Given the description of an element on the screen output the (x, y) to click on. 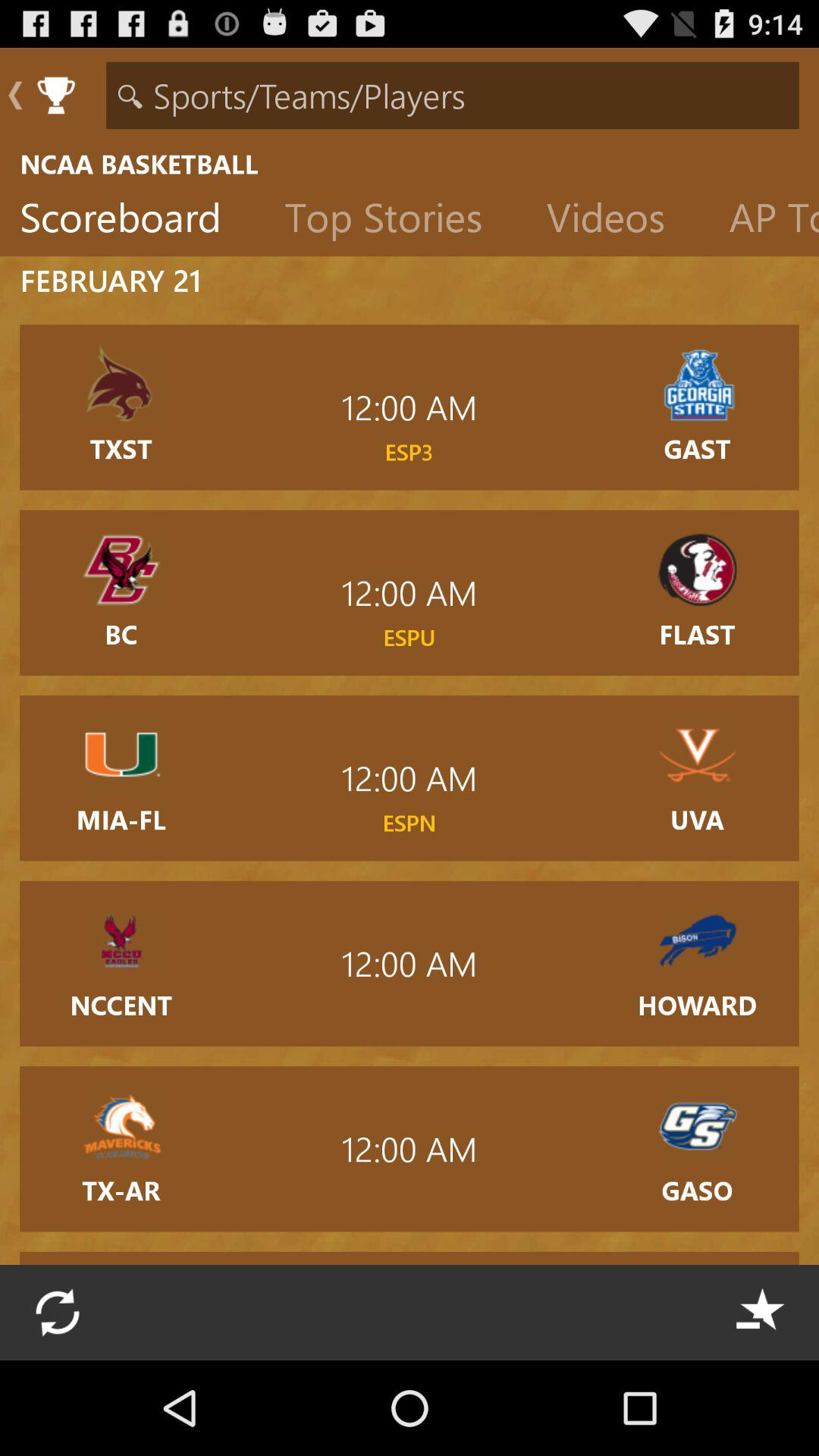
turn off the icon next to videos item (395, 220)
